Given the description of an element on the screen output the (x, y) to click on. 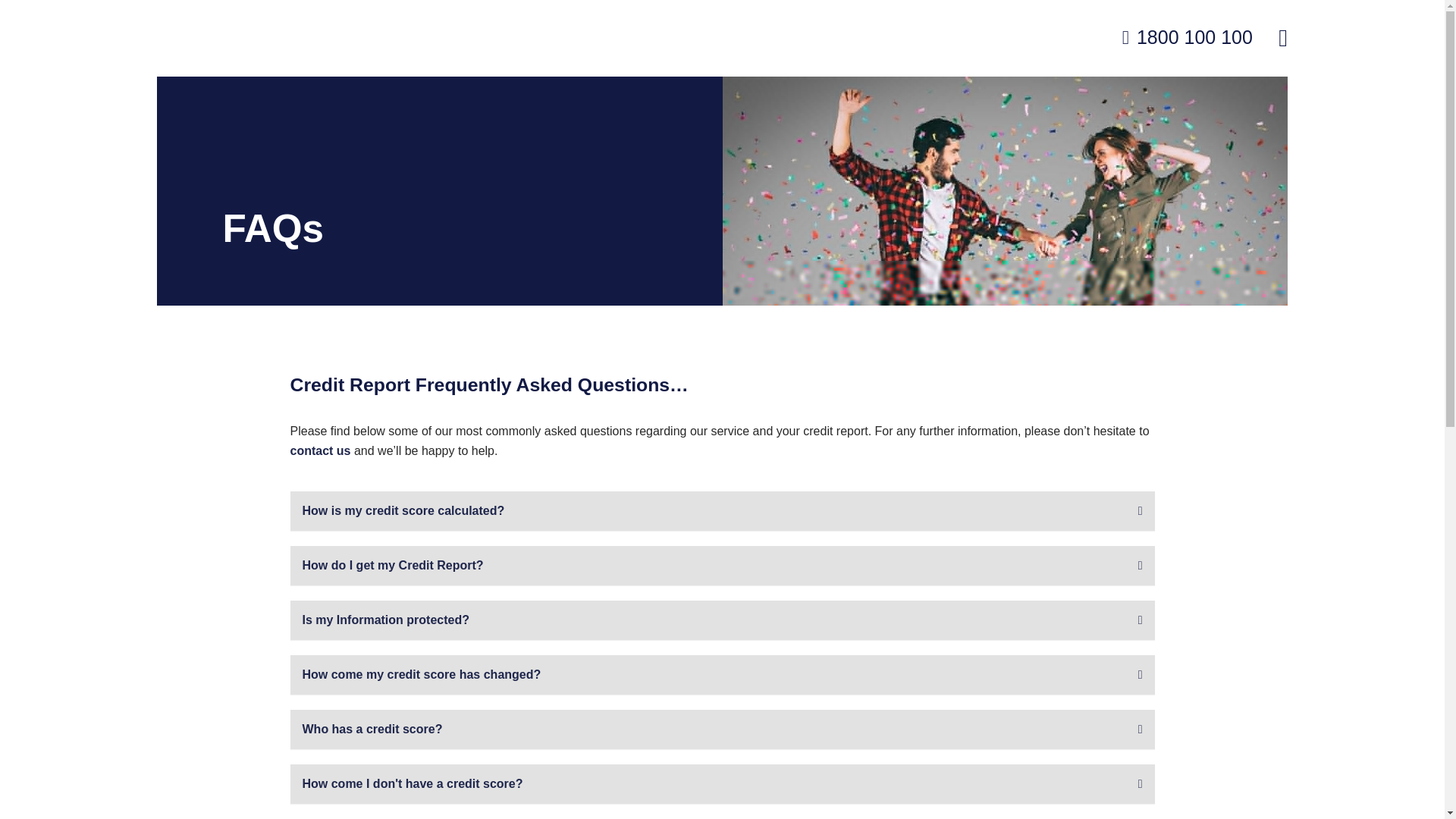
How is my credit score calculated? (721, 510)
Who has a credit score? (721, 729)
How do I get my Credit Report? (721, 565)
Free Credit Report (50, 9)
Is my Information protected? (721, 620)
How come I don't have a credit score? (721, 784)
How come my credit score has changed? (721, 674)
1800 100 100 (1187, 37)
contact us (319, 450)
